Given the description of an element on the screen output the (x, y) to click on. 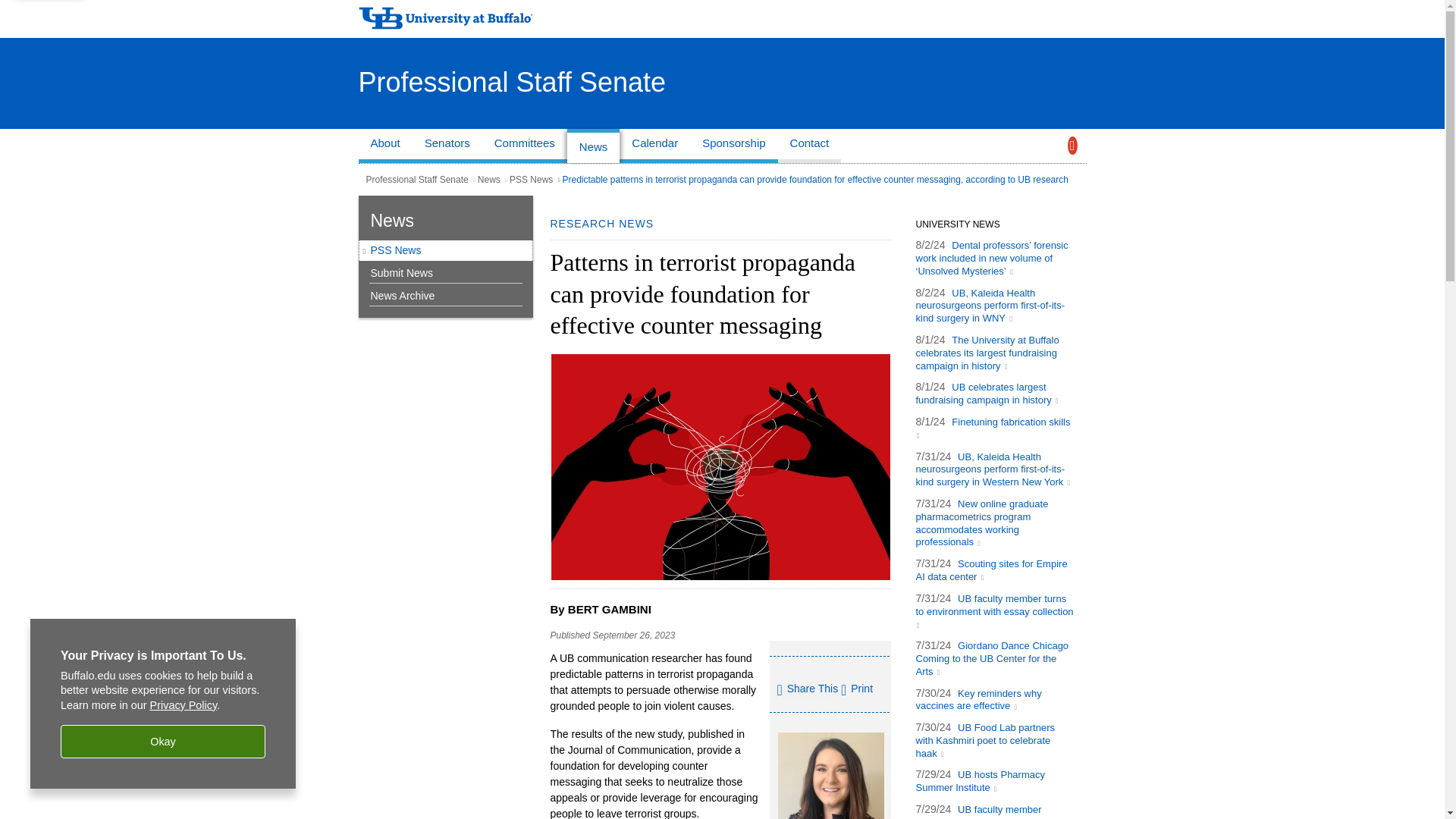
Senators (446, 145)
This link opens a page in a new window or tab. (992, 469)
Calendar (655, 145)
About (385, 145)
Professional Staff Senate (511, 81)
This link opens a page in a new window or tab. (986, 392)
This link opens a page in a new window or tab. (992, 427)
This link opens a page in a new window or tab. (987, 352)
This link opens a page in a new window or tab. (991, 658)
News (593, 145)
This link opens a page in a new window or tab. (994, 610)
This link opens a page in a new window or tab. (990, 305)
This link opens a page in a new window or tab. (991, 569)
Committees (524, 145)
This link opens a page in a new window or tab. (981, 522)
